Given the description of an element on the screen output the (x, y) to click on. 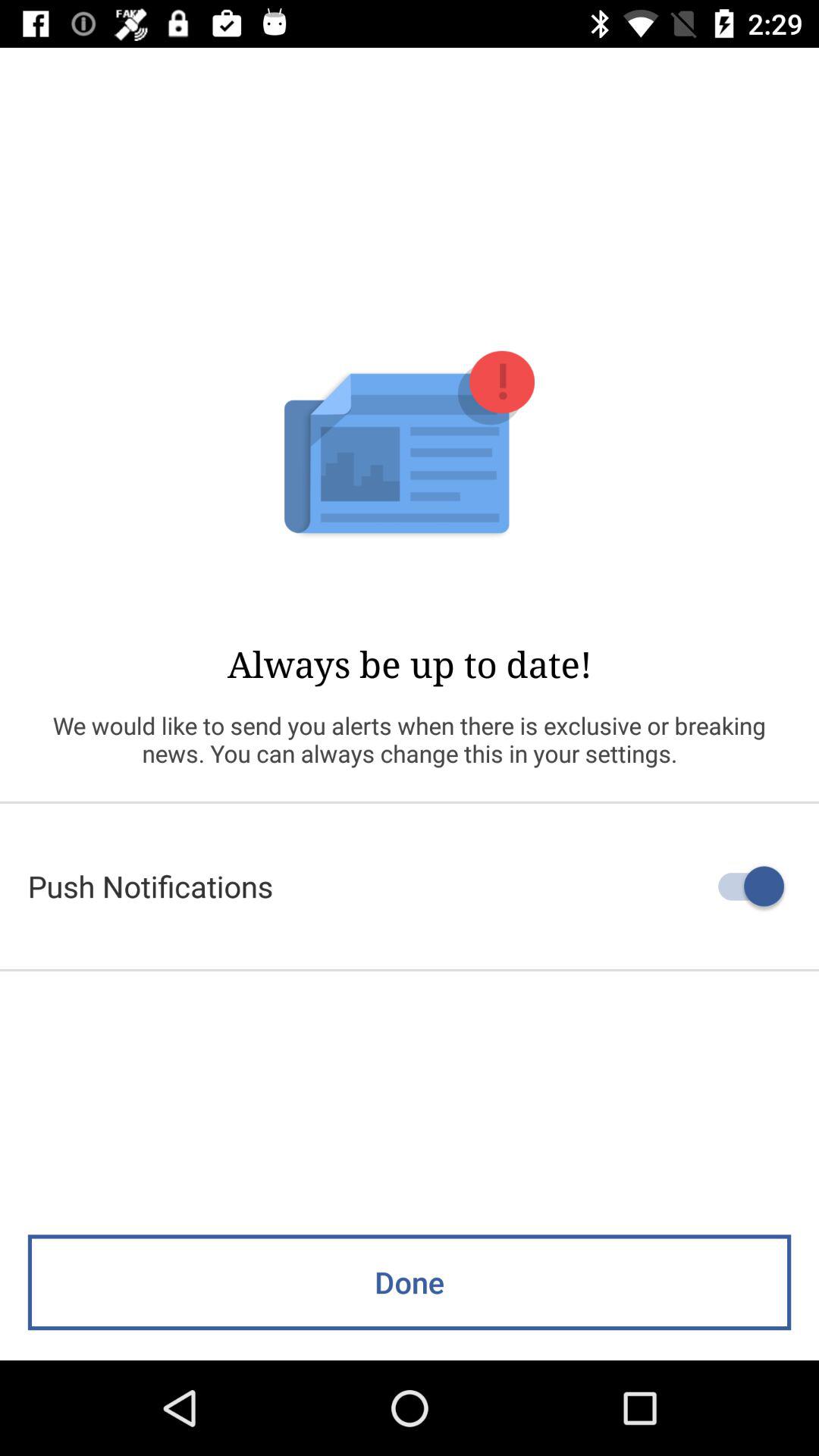
scroll to the push notifications item (409, 886)
